Given the description of an element on the screen output the (x, y) to click on. 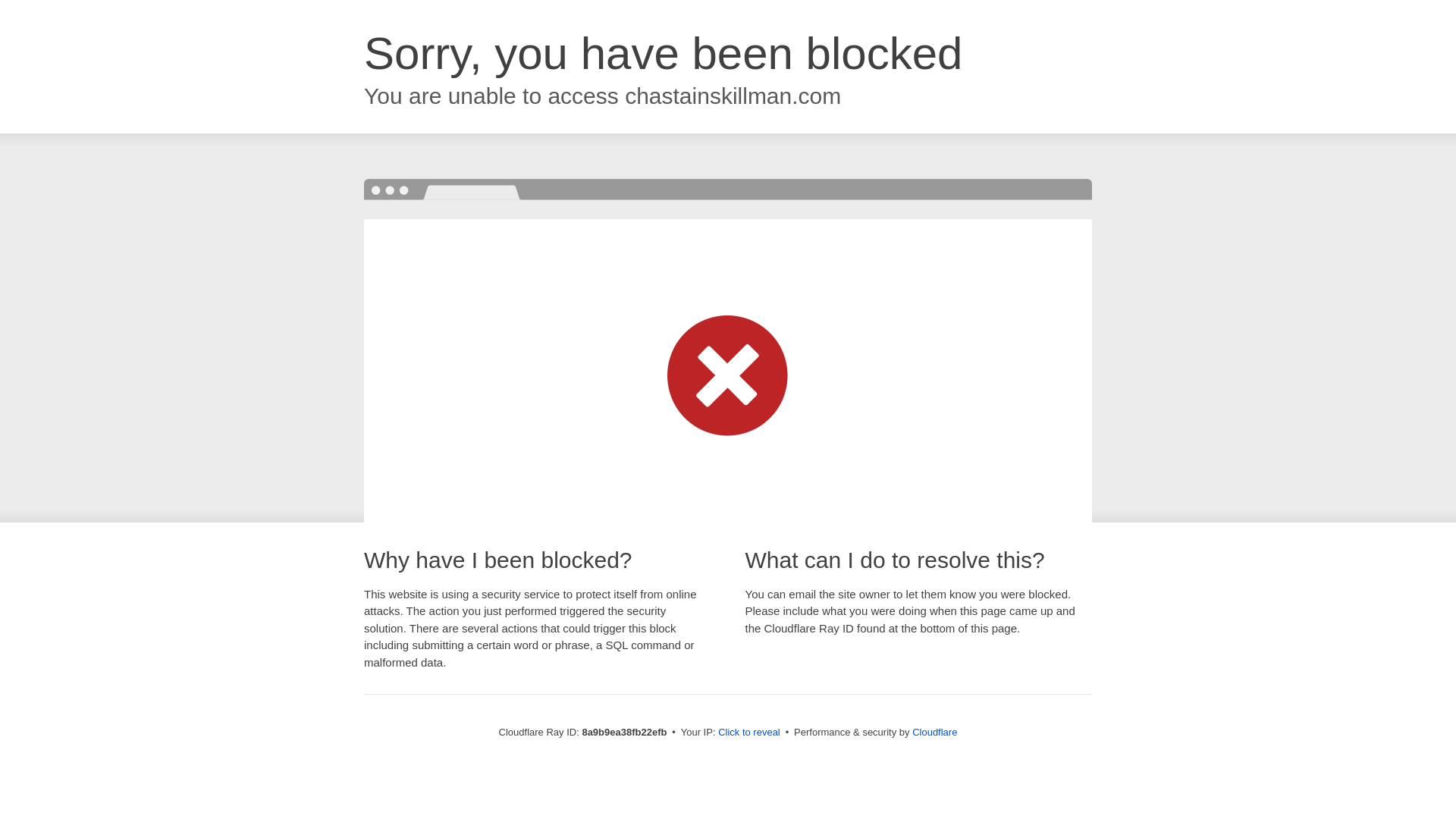
Cloudflare (934, 731)
Click to reveal (748, 732)
